Given the description of an element on the screen output the (x, y) to click on. 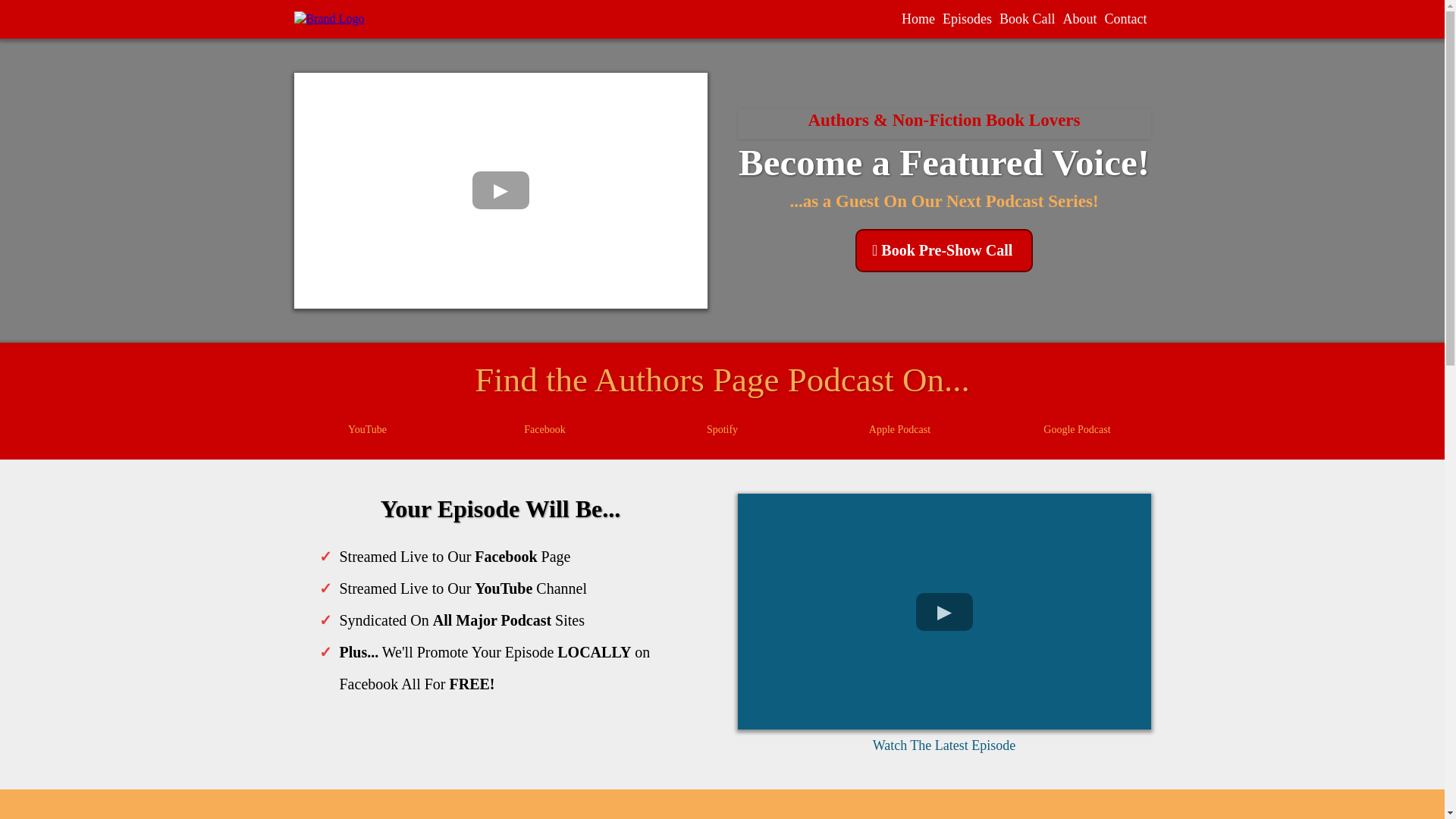
Contact (1125, 19)
Episodes (967, 19)
About (1079, 19)
Book Pre-Show Call (944, 250)
Book Call (1027, 19)
Home (918, 19)
